Given the description of an element on the screen output the (x, y) to click on. 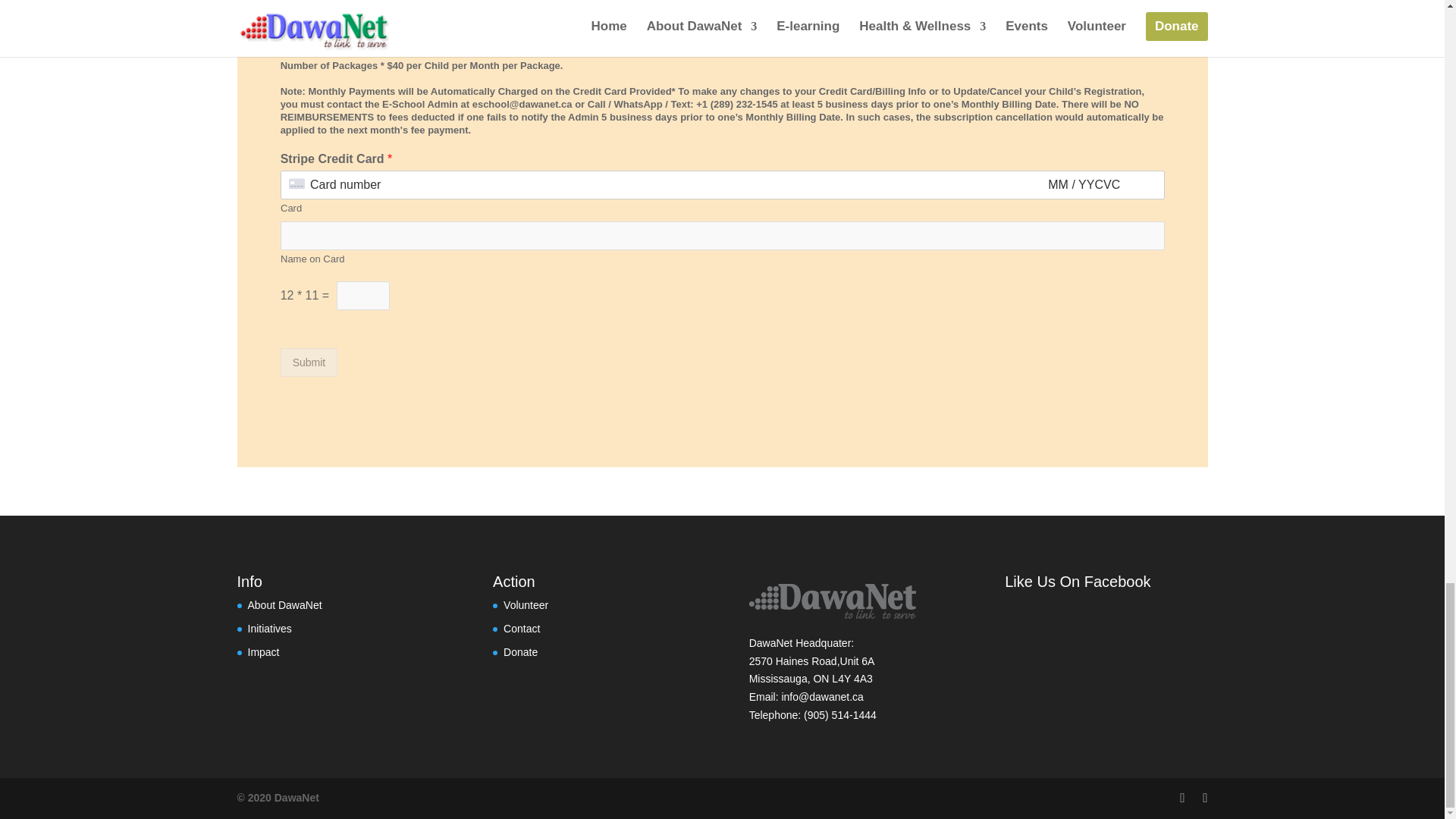
Submit (309, 362)
Initiatives (269, 628)
About DawaNet (284, 604)
Donate (520, 652)
Impact (263, 652)
Volunteer (525, 604)
Contact (521, 628)
Secure card payment input frame (722, 185)
